Given the description of an element on the screen output the (x, y) to click on. 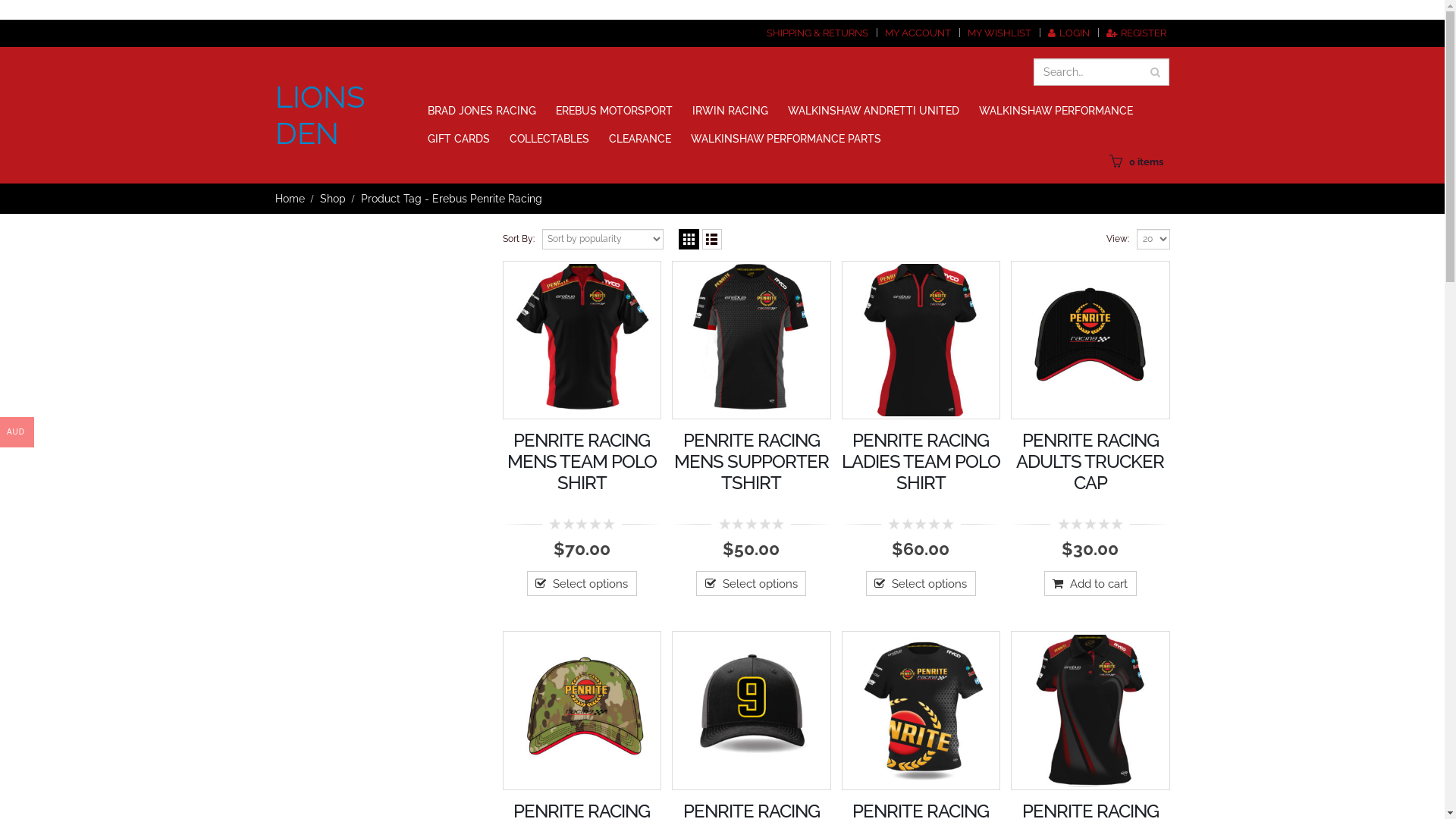
WALKINSHAW PERFORMANCE PARTS Element type: text (785, 138)
Home Element type: text (289, 198)
LIONS DEN Element type: text (338, 114)
WALKINSHAW ANDRETTI UNITED Element type: text (873, 110)
SHIPPING & RETURNS Element type: text (817, 33)
CLEARANCE Element type: text (639, 138)
PENRITE RACING ADULTS TRUCKER CAP Element type: text (1090, 461)
Search Element type: hover (1155, 71)
GIFT CARDS Element type: text (458, 138)
LOGIN Element type: text (1067, 33)
IRWIN RACING Element type: text (730, 110)
MY WISHLIST Element type: text (998, 33)
EREBUS MOTORSPORT Element type: text (613, 110)
REGISTER Element type: text (1136, 33)
Shop Element type: text (332, 198)
PENRITE RACING LADIES TEAM POLO SHIRT Element type: text (921, 461)
Grid View Element type: hover (688, 239)
BRAD JONES RACING Element type: text (481, 110)
PENRITE RACING MENS TEAM POLO SHIRT Element type: text (581, 461)
List View Element type: hover (712, 239)
PENRITE RACING MENS SUPPORTER TSHIRT Element type: text (751, 461)
WALKINSHAW PERFORMANCE Element type: text (1055, 110)
MY ACCOUNT Element type: text (917, 33)
COLLECTABLES Element type: text (549, 138)
